Given the description of an element on the screen output the (x, y) to click on. 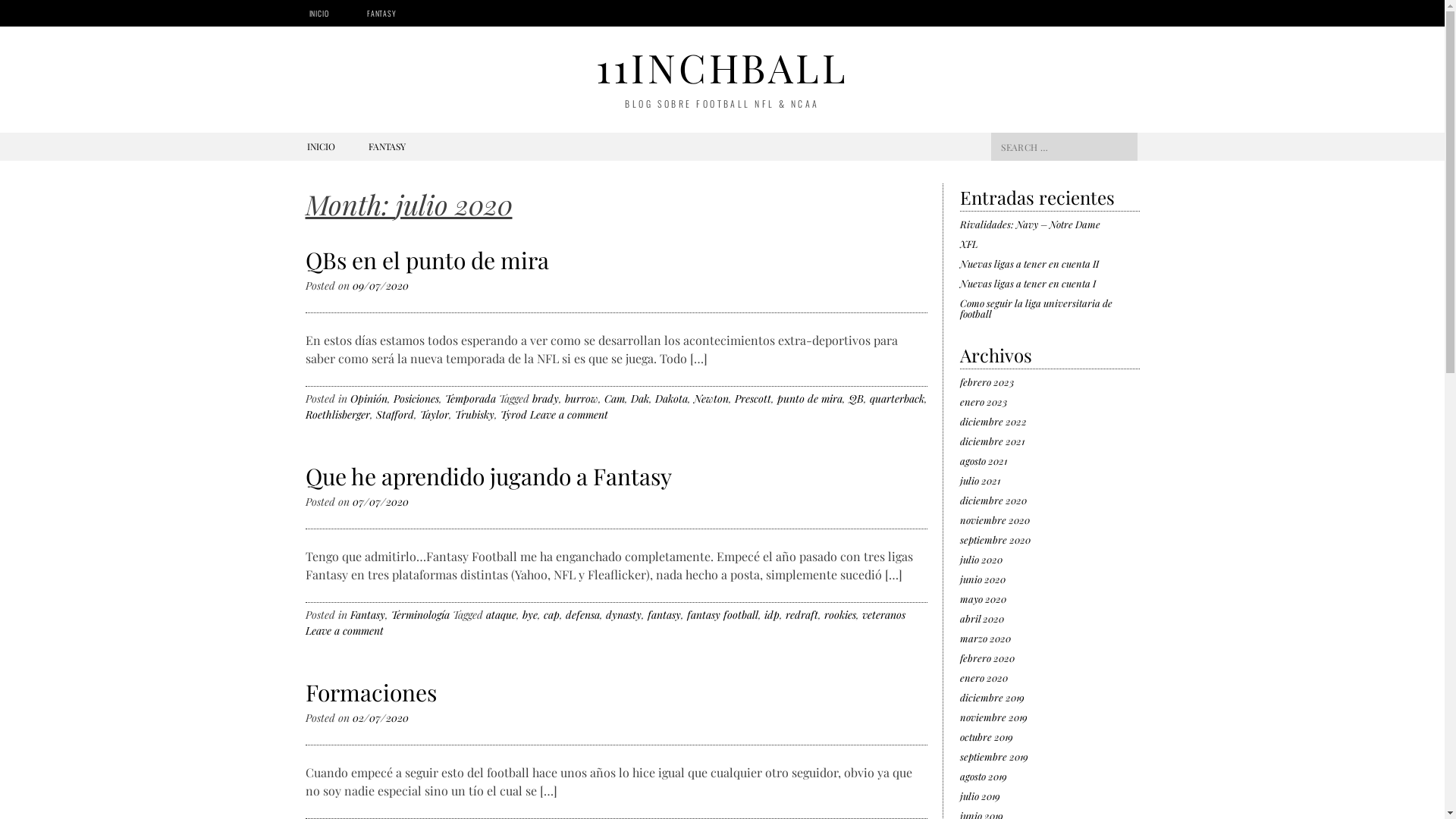
julio 2020 Element type: text (981, 558)
Posiciones Element type: text (415, 398)
Dakota Element type: text (671, 398)
Formaciones Element type: text (370, 692)
rookies Element type: text (839, 614)
SKIP TO CONTENT Element type: text (344, 146)
febrero 2023 Element type: text (986, 381)
Prescott Element type: text (752, 398)
11INCHBALL Element type: text (722, 66)
bye Element type: text (528, 614)
veteranos Element type: text (882, 614)
idp Element type: text (771, 614)
Taylor Element type: text (434, 414)
Nuevas ligas a tener en cuenta II Element type: text (1029, 263)
julio 2021 Element type: text (980, 479)
octubre 2019 Element type: text (986, 736)
Cam Element type: text (613, 398)
agosto 2019 Element type: text (983, 775)
julio 2019 Element type: text (980, 795)
XFL Element type: text (969, 243)
abril 2020 Element type: text (982, 617)
agosto 2021 Element type: text (983, 460)
marzo 2020 Element type: text (985, 637)
punto de mira Element type: text (808, 398)
fantasy football Element type: text (722, 614)
brady Element type: text (545, 398)
Trubisky Element type: text (474, 414)
diciembre 2021 Element type: text (992, 440)
Newton Element type: text (710, 398)
Como seguir la liga universitaria de football Element type: text (1036, 308)
Que he aprendido jugando a Fantasy Element type: text (487, 476)
dynasty Element type: text (622, 614)
enero 2023 Element type: text (983, 401)
noviembre 2019 Element type: text (993, 716)
Tyrod Element type: text (513, 414)
09/07/2020 Element type: text (379, 285)
septiembre 2020 Element type: text (995, 539)
quarterback Element type: text (896, 398)
ataque Element type: text (500, 614)
fantasy Element type: text (663, 614)
cap Element type: text (550, 614)
INICIO Element type: text (318, 12)
Temporada Element type: text (469, 398)
febrero 2020 Element type: text (987, 657)
QBs en el punto de mira Element type: text (426, 259)
diciembre 2019 Element type: text (992, 696)
diciembre 2020 Element type: text (993, 499)
enero 2020 Element type: text (983, 677)
diciembre 2022 Element type: text (993, 420)
Stafford Element type: text (395, 414)
Nuevas ligas a tener en cuenta I Element type: text (1027, 282)
QB Element type: text (854, 398)
FANTASY Element type: text (381, 12)
redraft Element type: text (801, 614)
defensa Element type: text (582, 614)
Dak Element type: text (639, 398)
burrow Element type: text (580, 398)
Fantasy Element type: text (367, 614)
02/07/2020 Element type: text (379, 717)
junio 2020 Element type: text (982, 578)
Leave a comment Element type: text (568, 414)
FANTASY Element type: text (386, 146)
septiembre 2019 Element type: text (994, 755)
Roethlisberger Element type: text (336, 414)
Leave a comment Element type: text (343, 630)
mayo 2020 Element type: text (983, 598)
noviembre 2020 Element type: text (994, 519)
INICIO Element type: text (320, 146)
07/07/2020 Element type: text (379, 501)
